Given the description of an element on the screen output the (x, y) to click on. 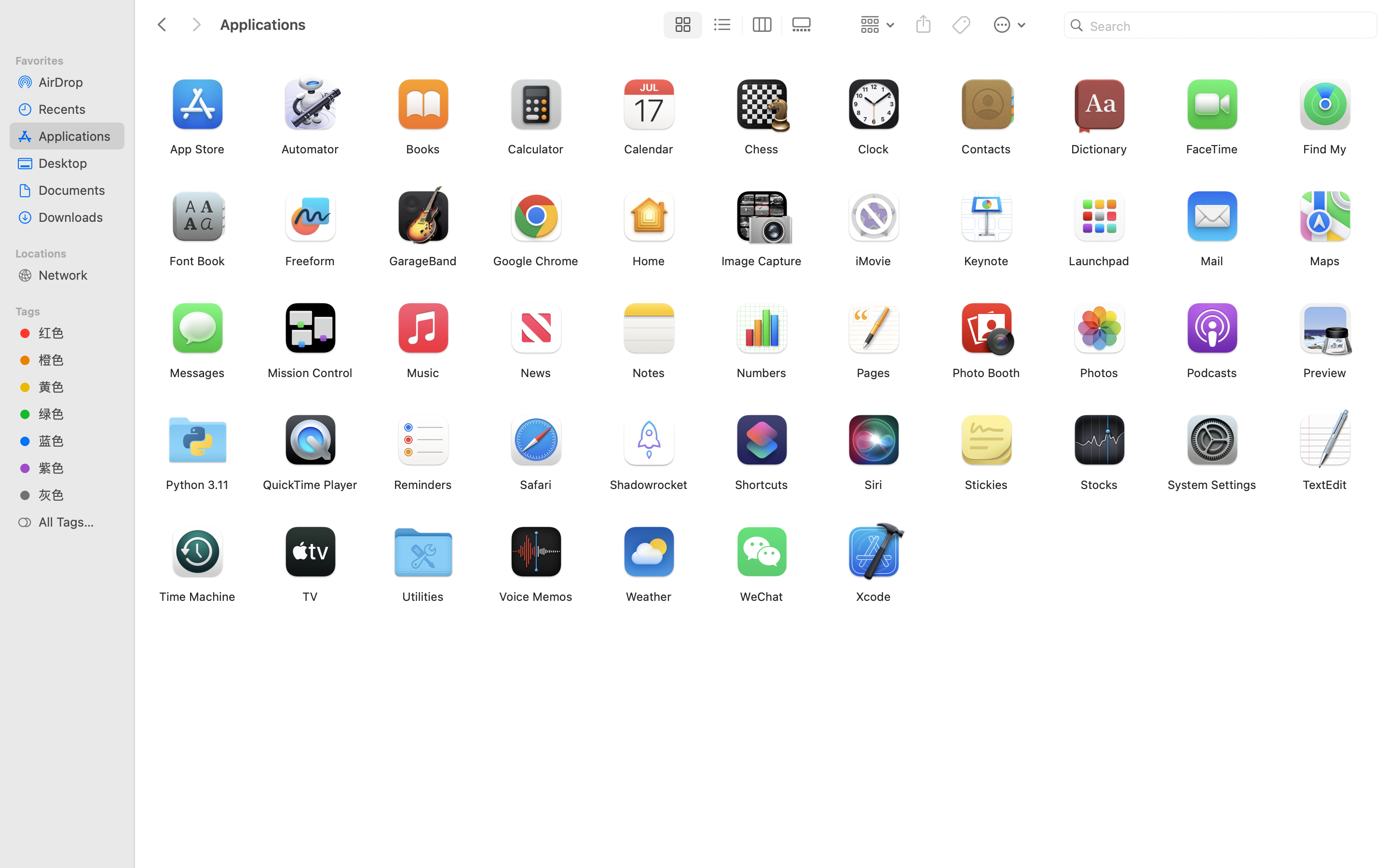
Recents Element type: AXStaticText (77, 108)
灰色 Element type: AXStaticText (77, 494)
